Given the description of an element on the screen output the (x, y) to click on. 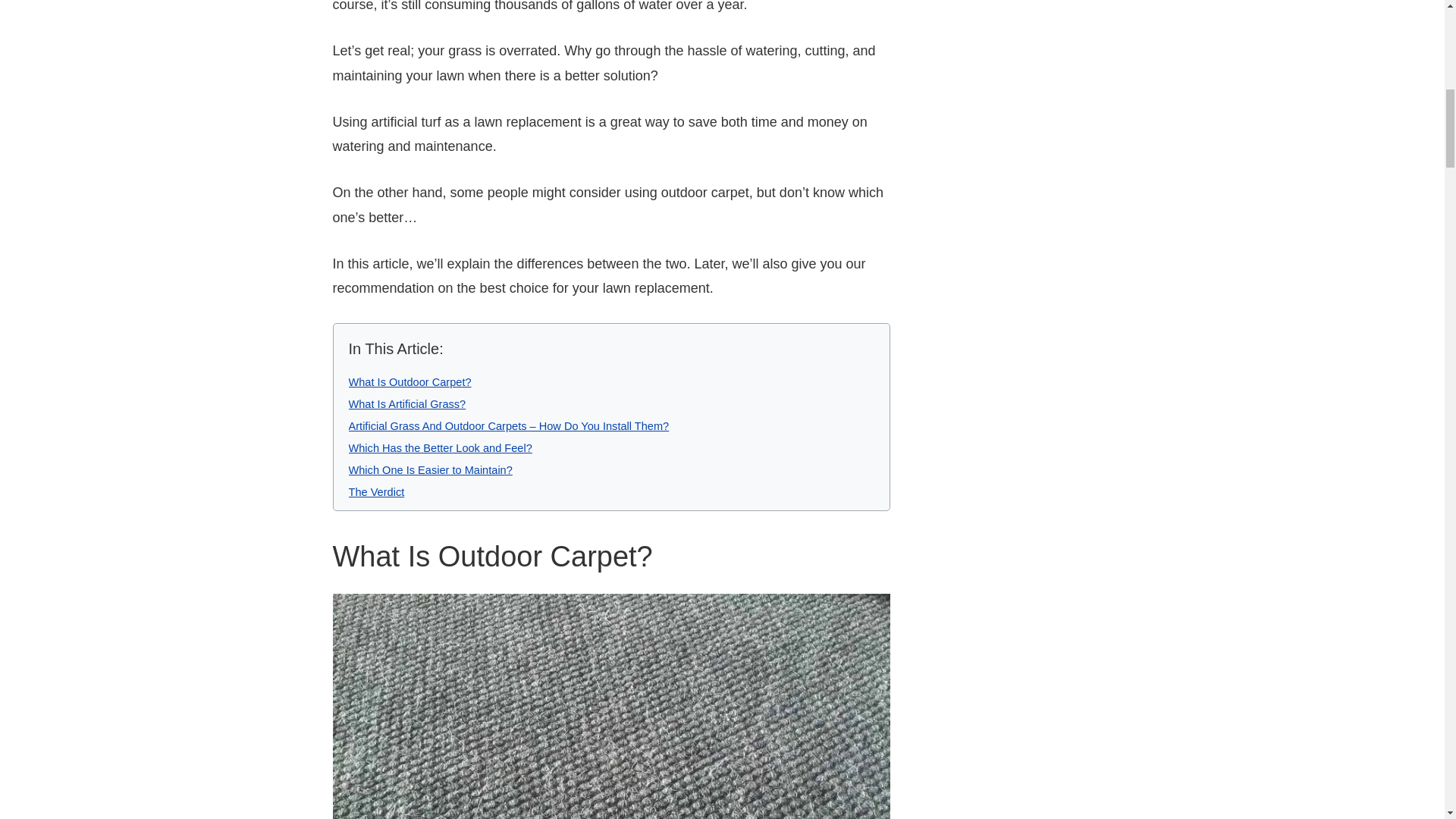
What Is Outdoor Carpet? (410, 381)
Which One Is Easier to Maintain? (430, 469)
Which Has the Better Look and Feel? (440, 448)
The Verdict (376, 491)
What Is Artificial Grass? (407, 404)
